Given the description of an element on the screen output the (x, y) to click on. 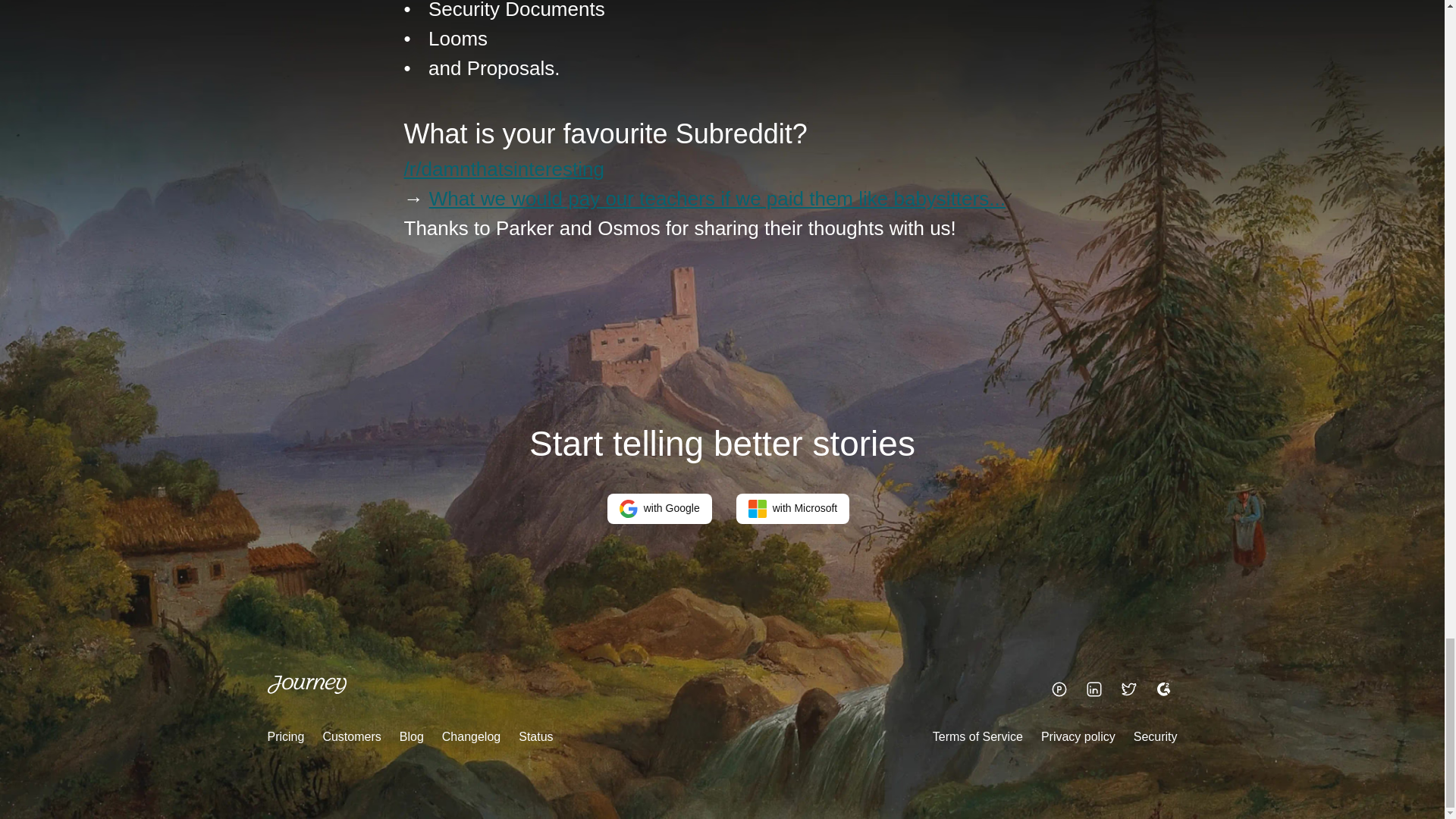
with Google (659, 508)
with Microsoft (793, 508)
Privacy policy (1078, 736)
Changelog (471, 736)
Terms of Service (978, 736)
Blog (410, 736)
Status (535, 736)
Pricing (285, 736)
Customers (350, 736)
